Given the description of an element on the screen output the (x, y) to click on. 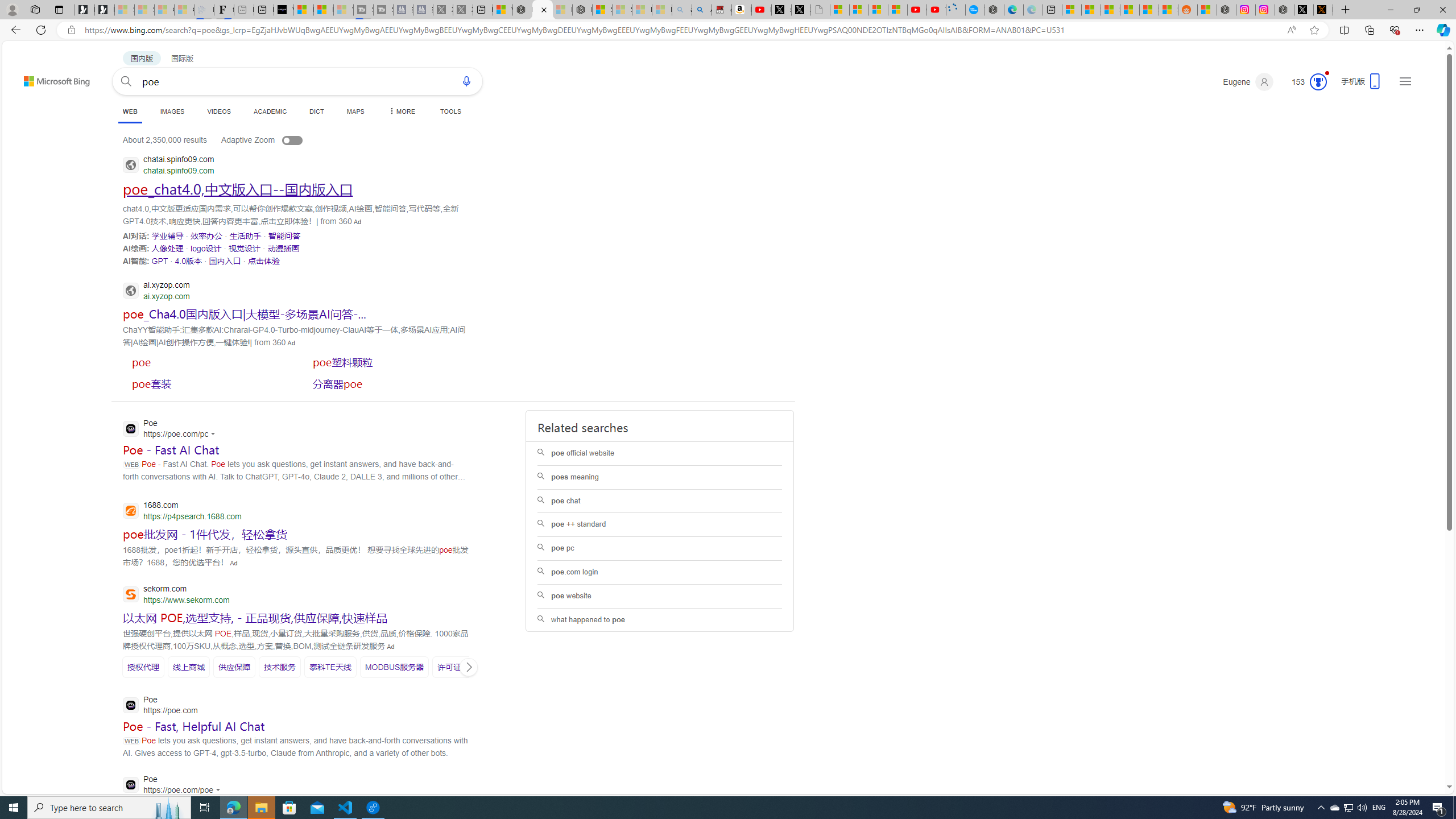
SERP,5567 (205, 248)
SERP,5588 (205, 533)
Shanghai, China Weather trends | Microsoft Weather (1168, 9)
SERP,5584 (388, 383)
poes meaning (659, 476)
SERP,5581 (207, 362)
Back to Bing search (50, 78)
Workspaces (34, 9)
Microsoft account | Microsoft Account Privacy Settings (1071, 9)
What's the best AI voice generator? - voice.ai (283, 9)
Restore (1416, 9)
